Given the description of an element on the screen output the (x, y) to click on. 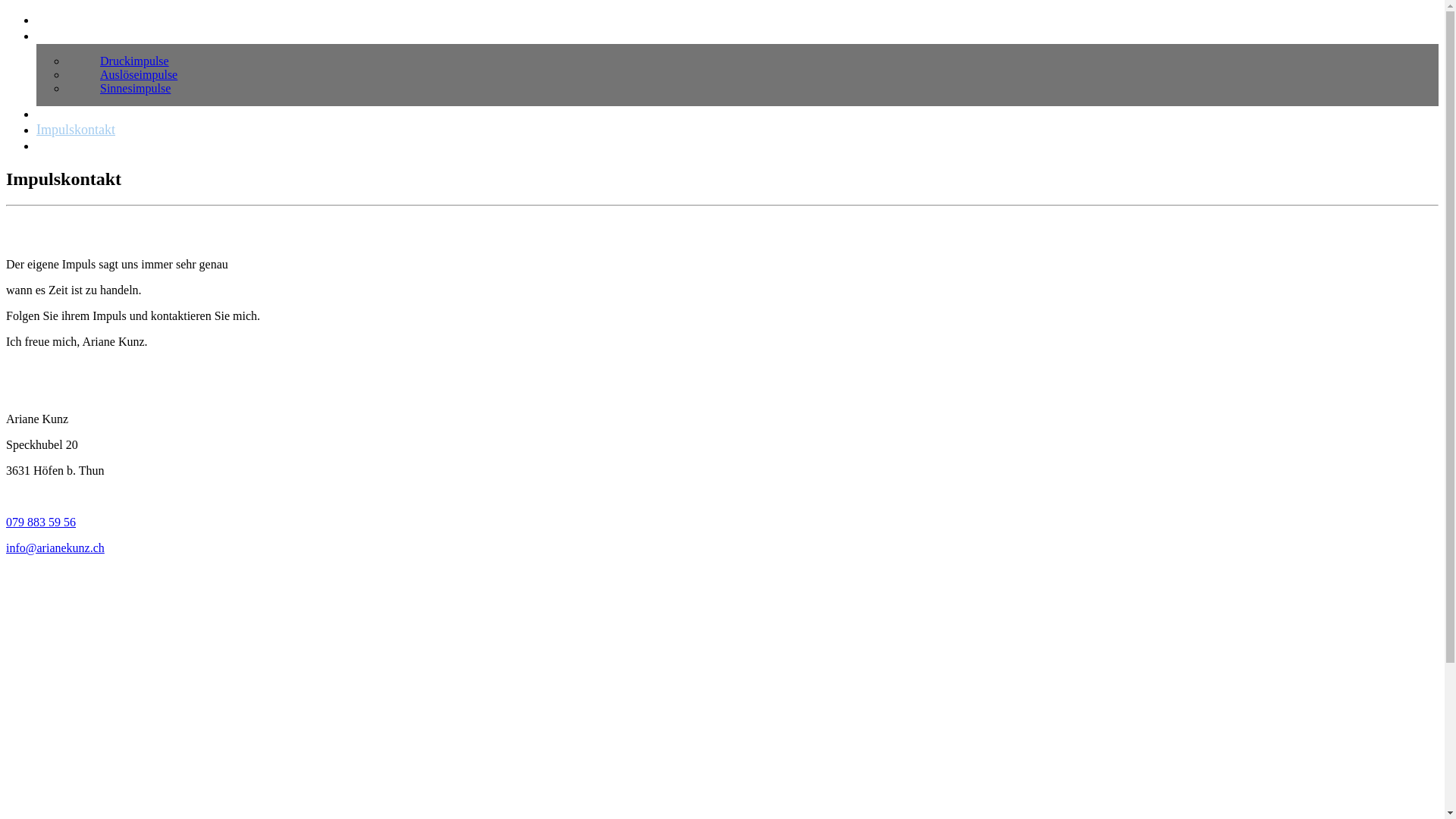
Home Element type: text (52, 19)
Impulsgeberin Element type: text (75, 113)
Sinnesimpulse Element type: text (134, 88)
info@arianekunz.ch Element type: text (55, 547)
079 883 59 56 Element type: text (40, 521)
Impulskontakt Element type: text (75, 129)
Druckimpulse Element type: text (134, 61)
